Given the description of an element on the screen output the (x, y) to click on. 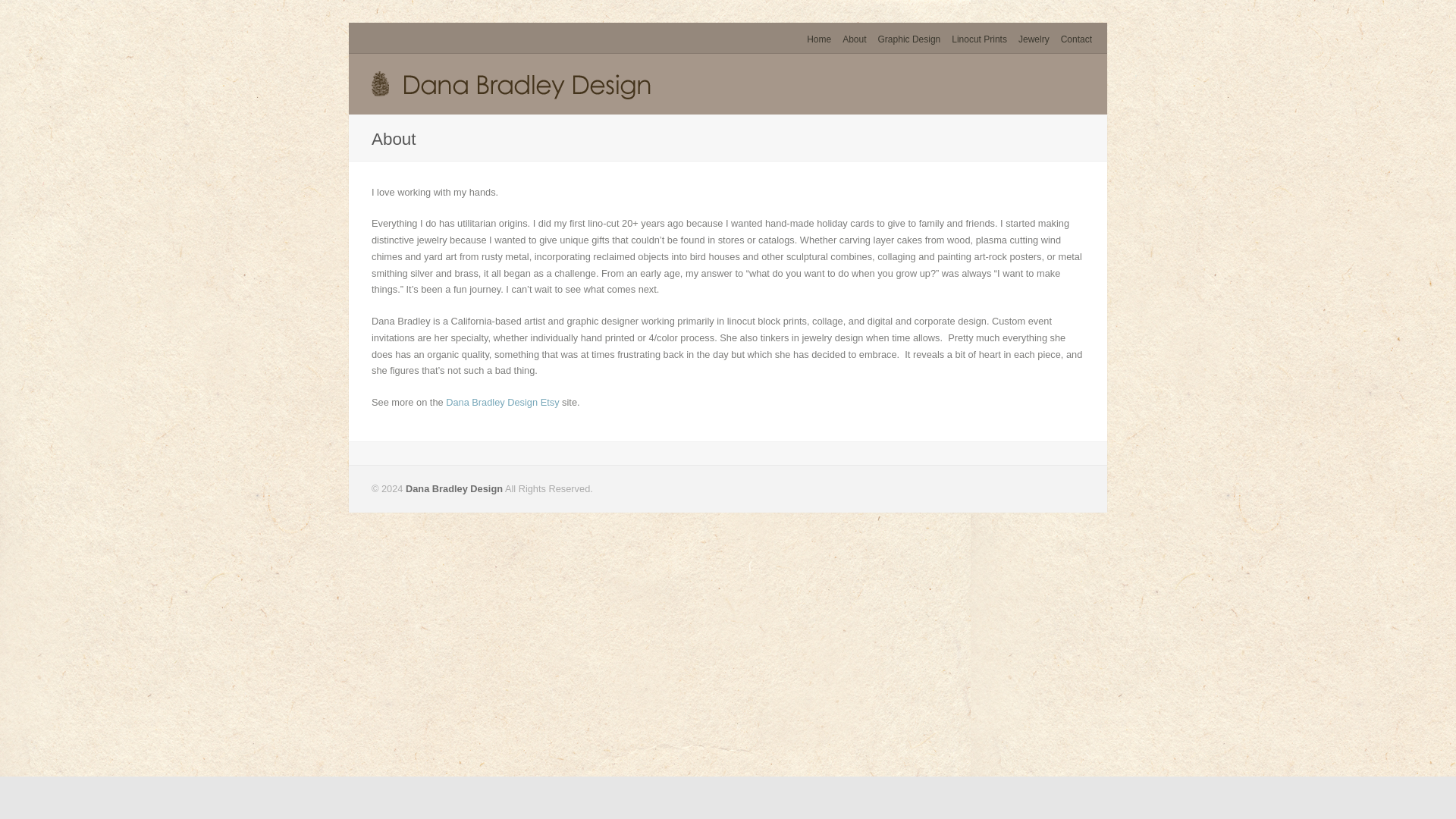
Home (818, 39)
About (854, 39)
Graphic Design With Heart (818, 39)
Dana Bradley Design (454, 488)
Jewelry (1033, 39)
Contact (1076, 39)
Graphic Design (908, 39)
Linocut Prints (979, 39)
Dana Bradley Design Etsy (502, 401)
